Given the description of an element on the screen output the (x, y) to click on. 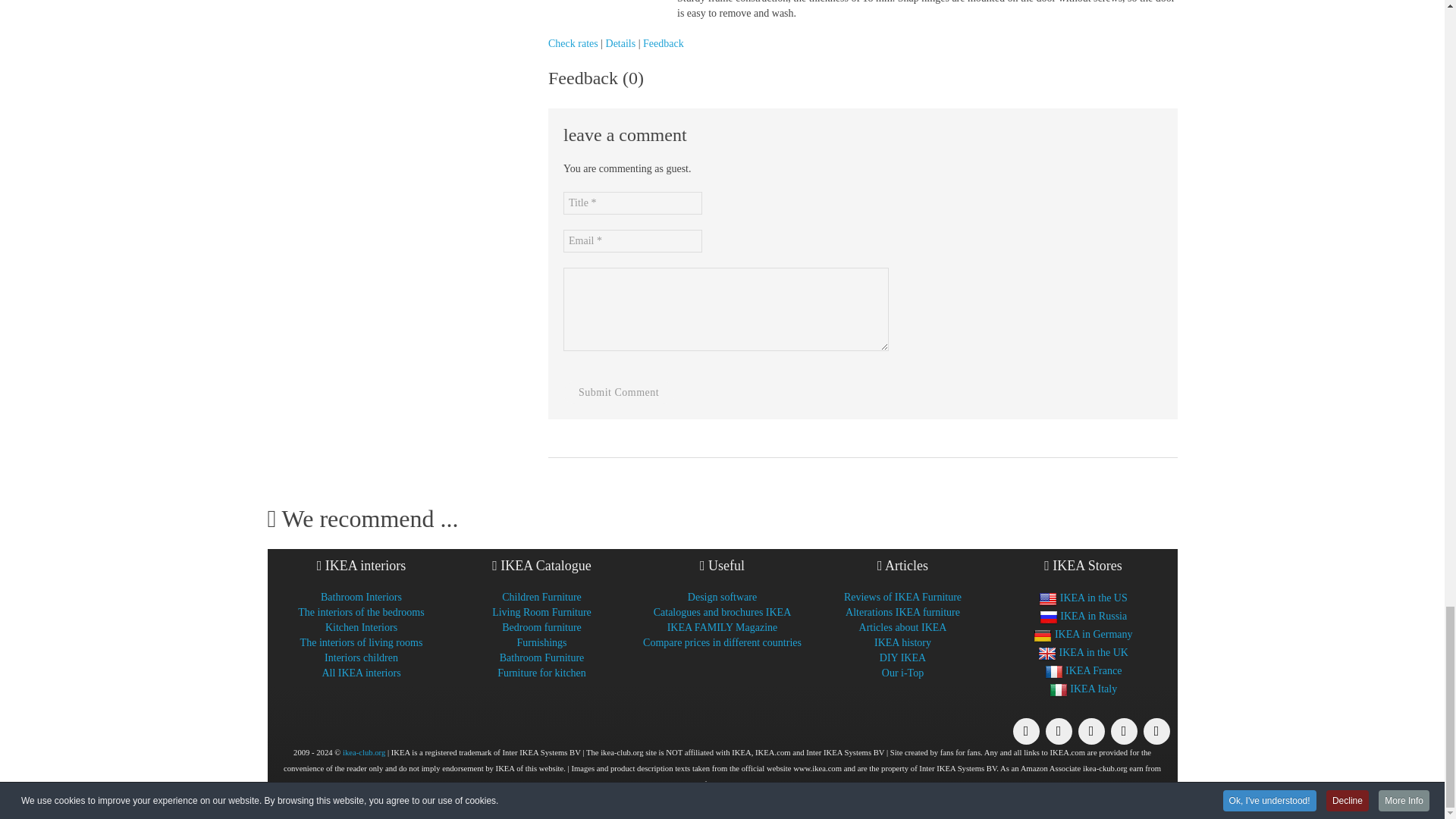
Submit Comment (618, 392)
